Given the description of an element on the screen output the (x, y) to click on. 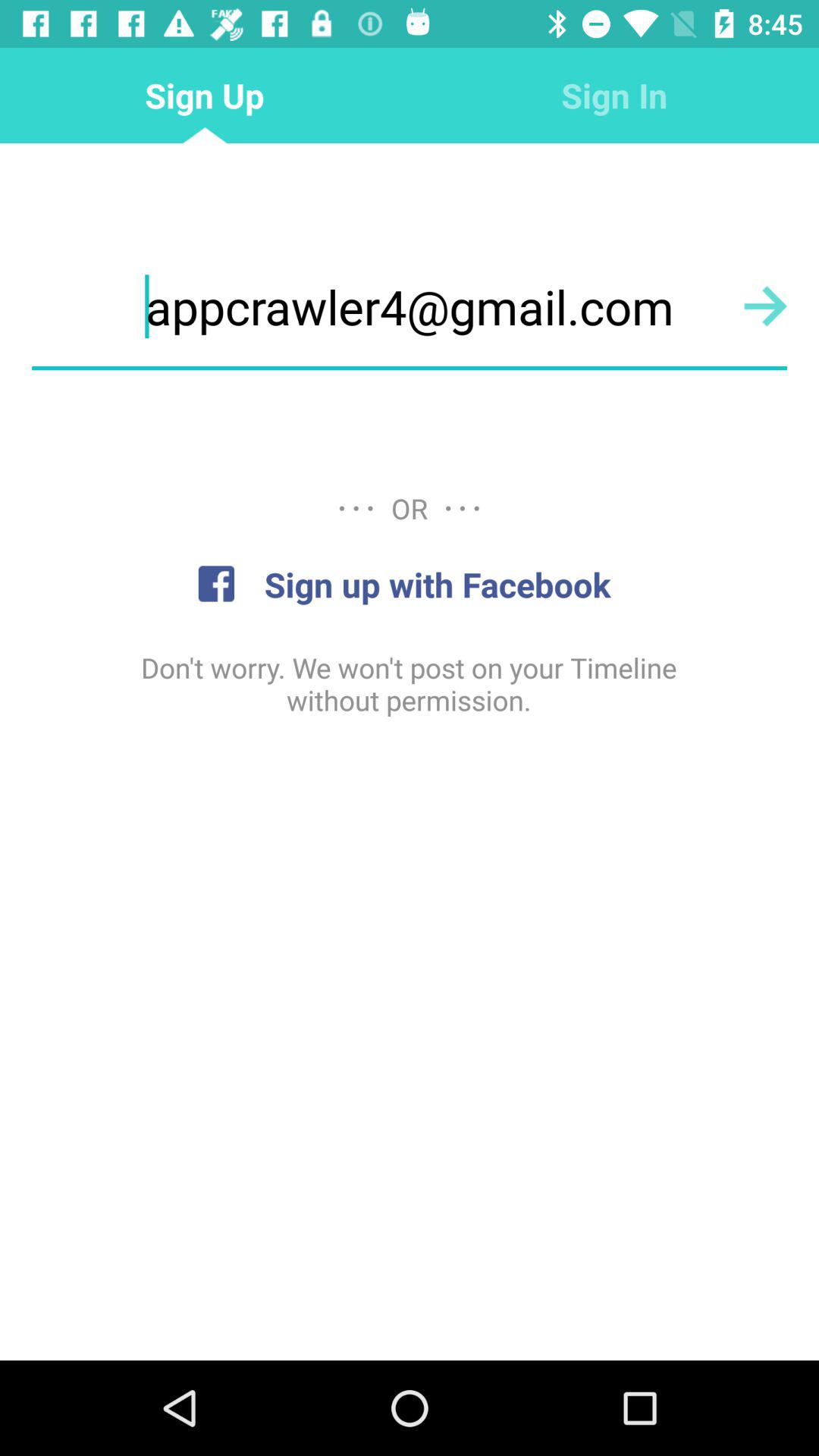
tap icon above appcrawler4@gmail.com item (614, 95)
